Given the description of an element on the screen output the (x, y) to click on. 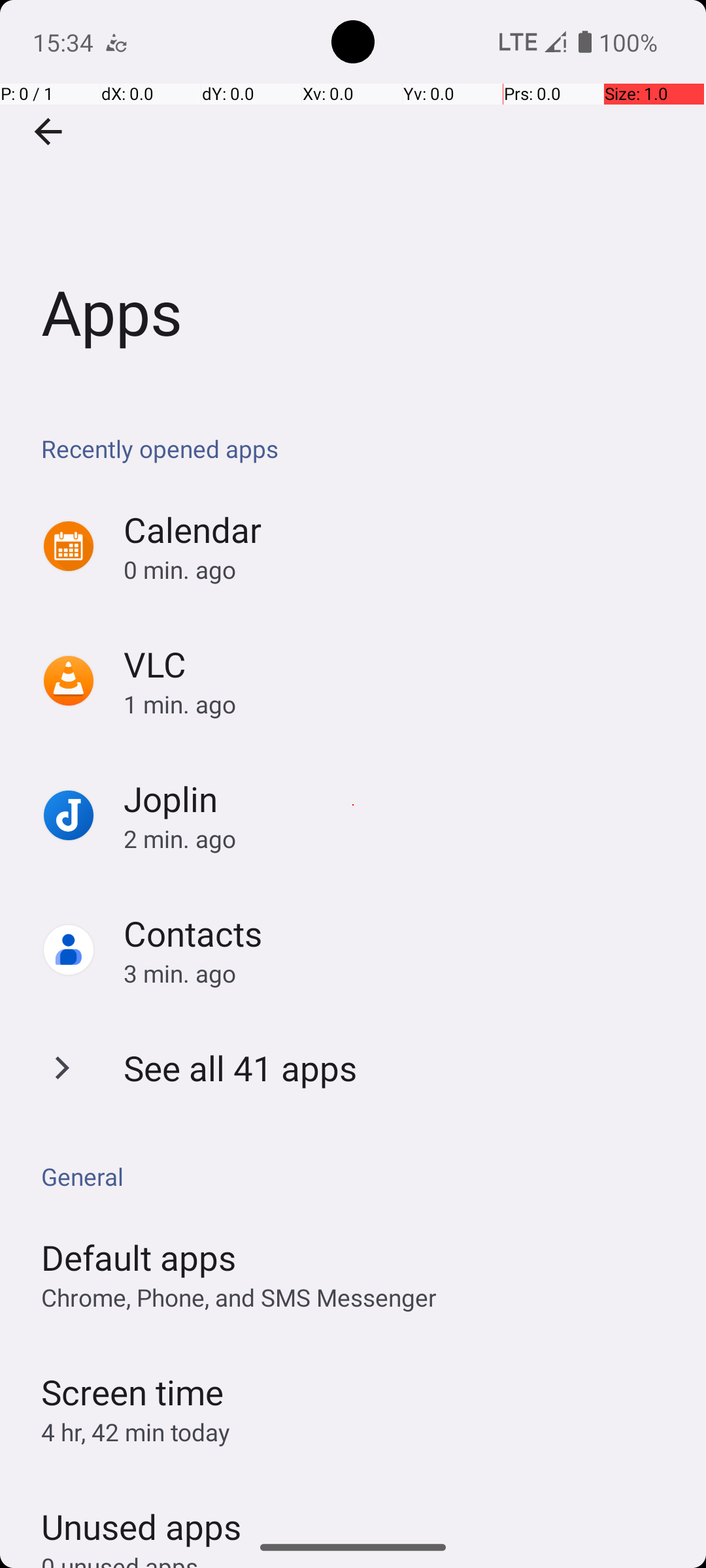
0 min. ago Element type: android.widget.TextView (400, 569)
2 min. ago Element type: android.widget.TextView (400, 838)
3 min. ago Element type: android.widget.TextView (400, 972)
4 hr, 42 min today Element type: android.widget.TextView (135, 1431)
